Given the description of an element on the screen output the (x, y) to click on. 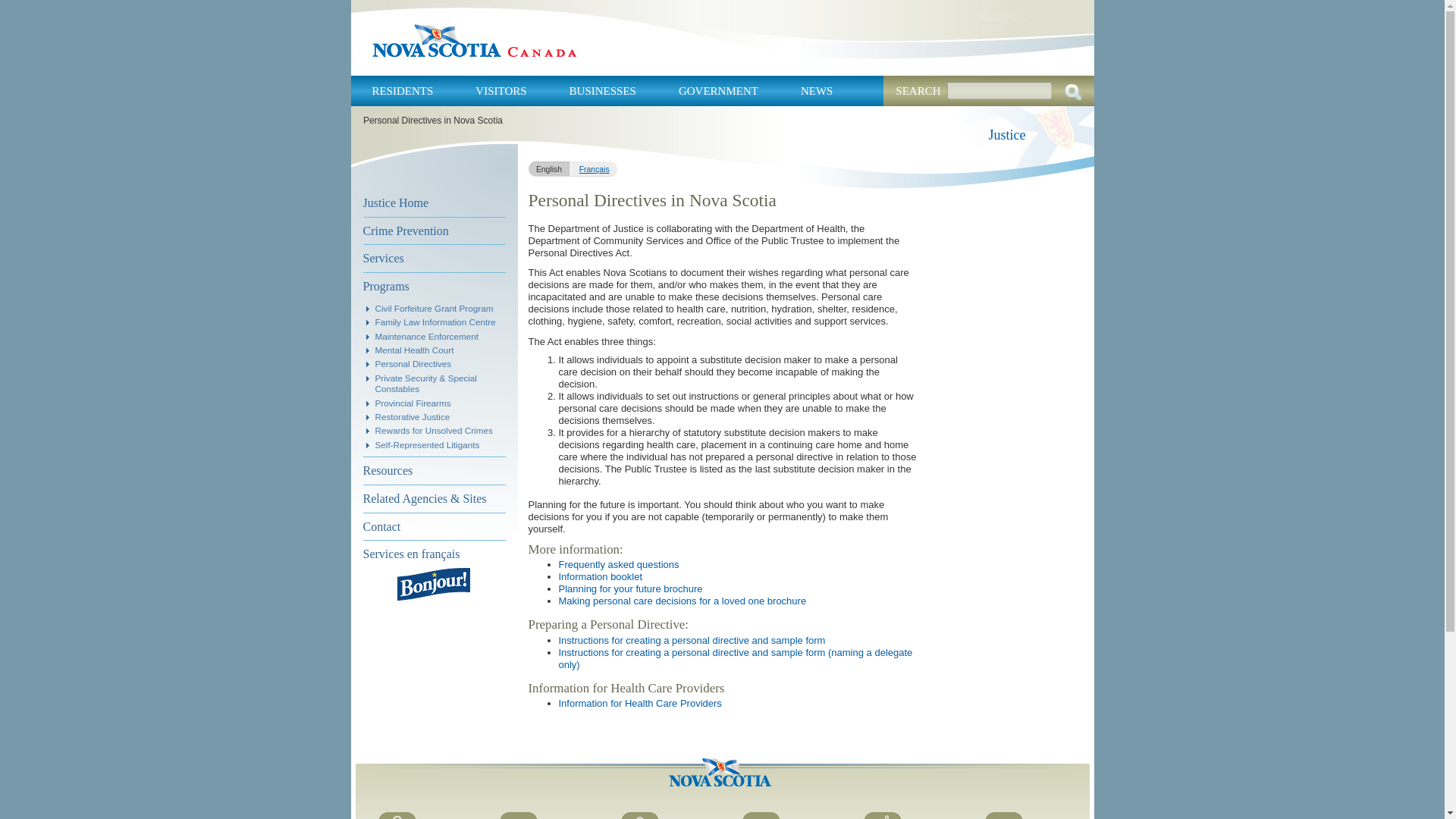
Justice (1007, 134)
GOVERNMENT (718, 91)
VISITORS (500, 91)
Justice Home (433, 203)
Services (433, 257)
RESIDENTS (401, 91)
Crime Prevention (433, 230)
NEWS (816, 91)
BUSINESSES (602, 91)
